Given the description of an element on the screen output the (x, y) to click on. 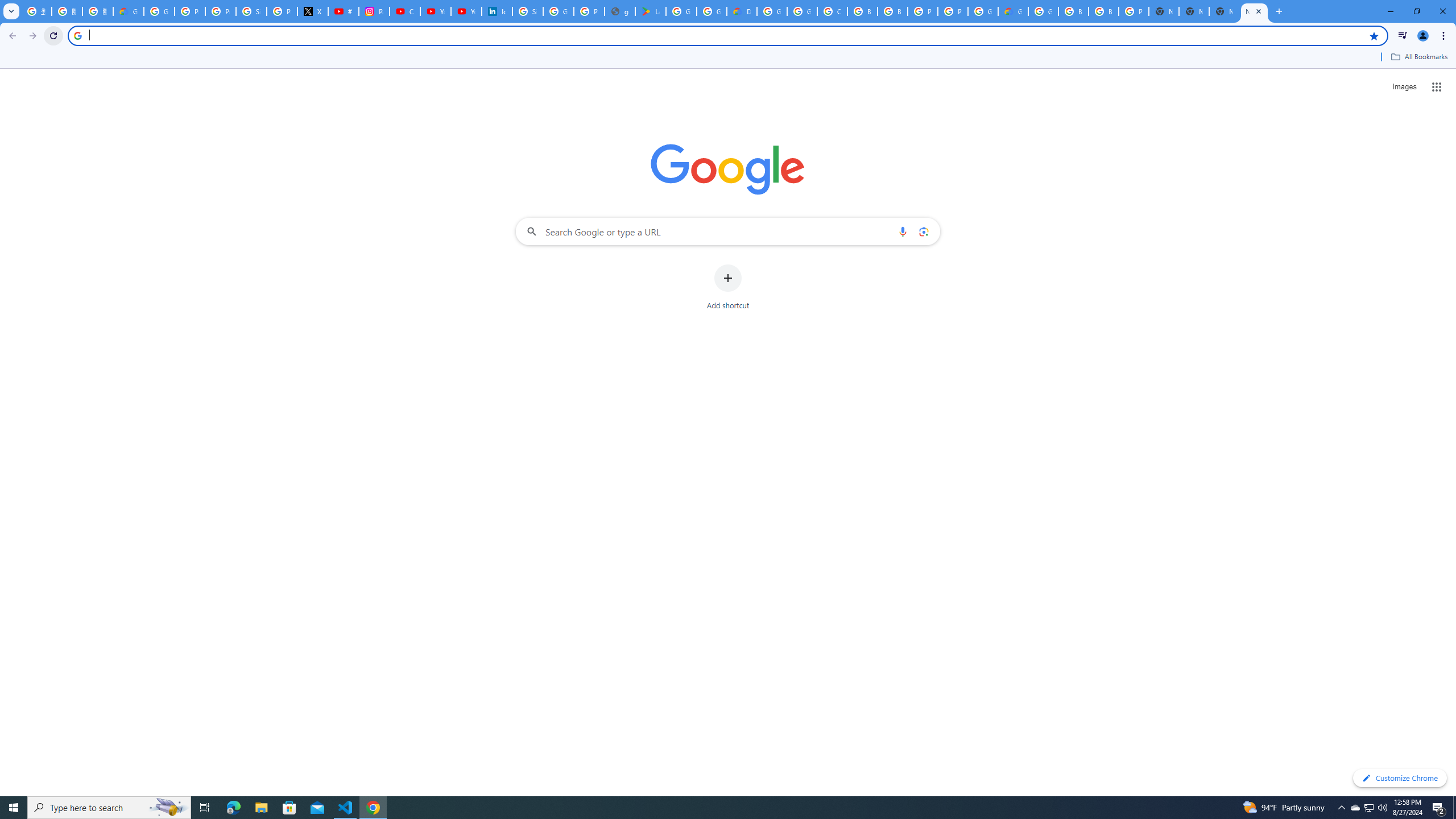
Add shortcut (727, 287)
Google Cloud Platform (1042, 11)
#nbabasketballhighlights - YouTube (343, 11)
Sign in - Google Accounts (527, 11)
